Given the description of an element on the screen output the (x, y) to click on. 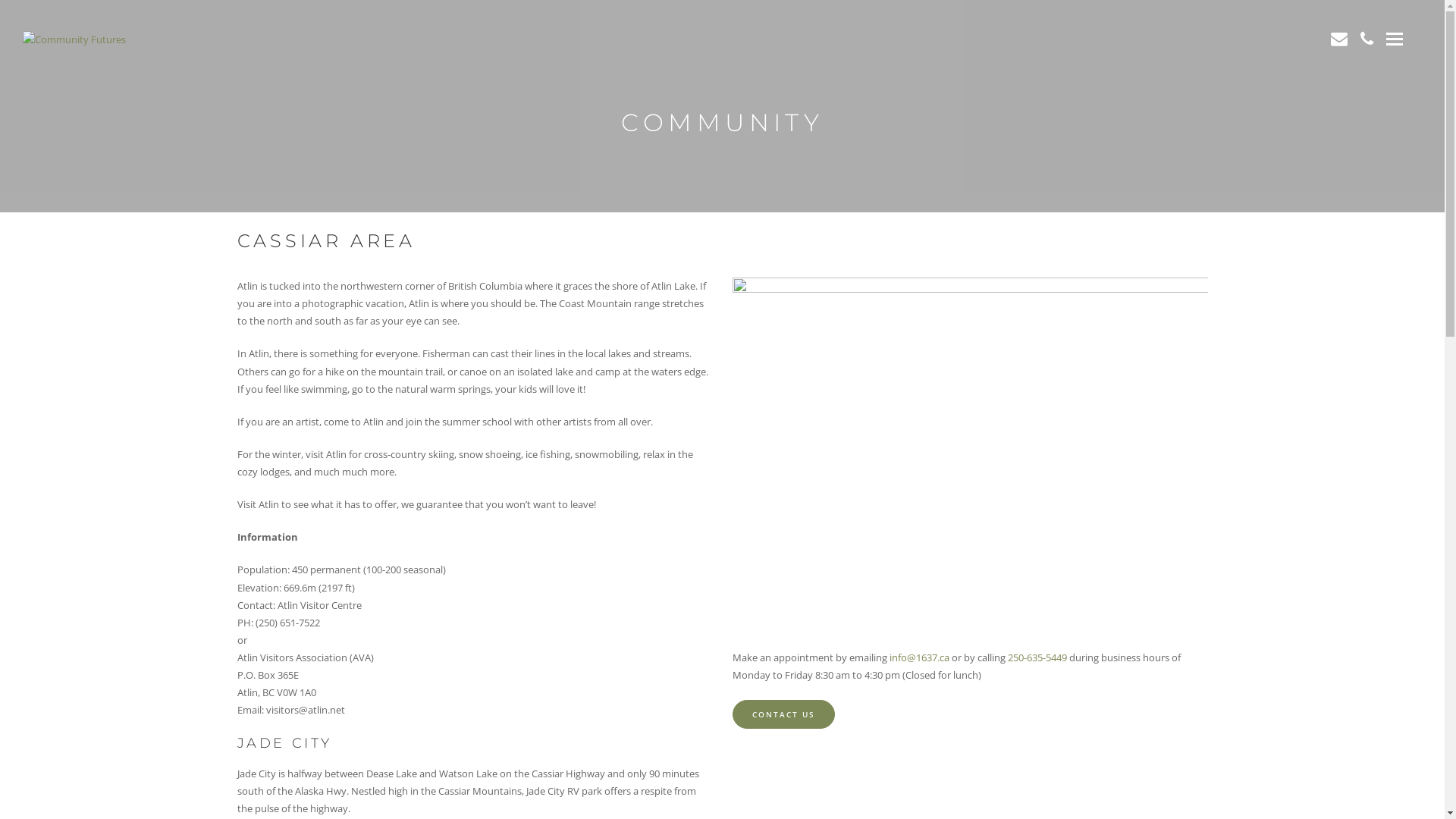
envelope Element type: text (1338, 37)
CONTACT US Element type: text (783, 713)
info@1637.ca Element type: text (918, 657)
Open Mobile Menu Element type: text (1394, 37)
phone Element type: text (1366, 37)
250-635-5449 Element type: text (1036, 657)
